Given the description of an element on the screen output the (x, y) to click on. 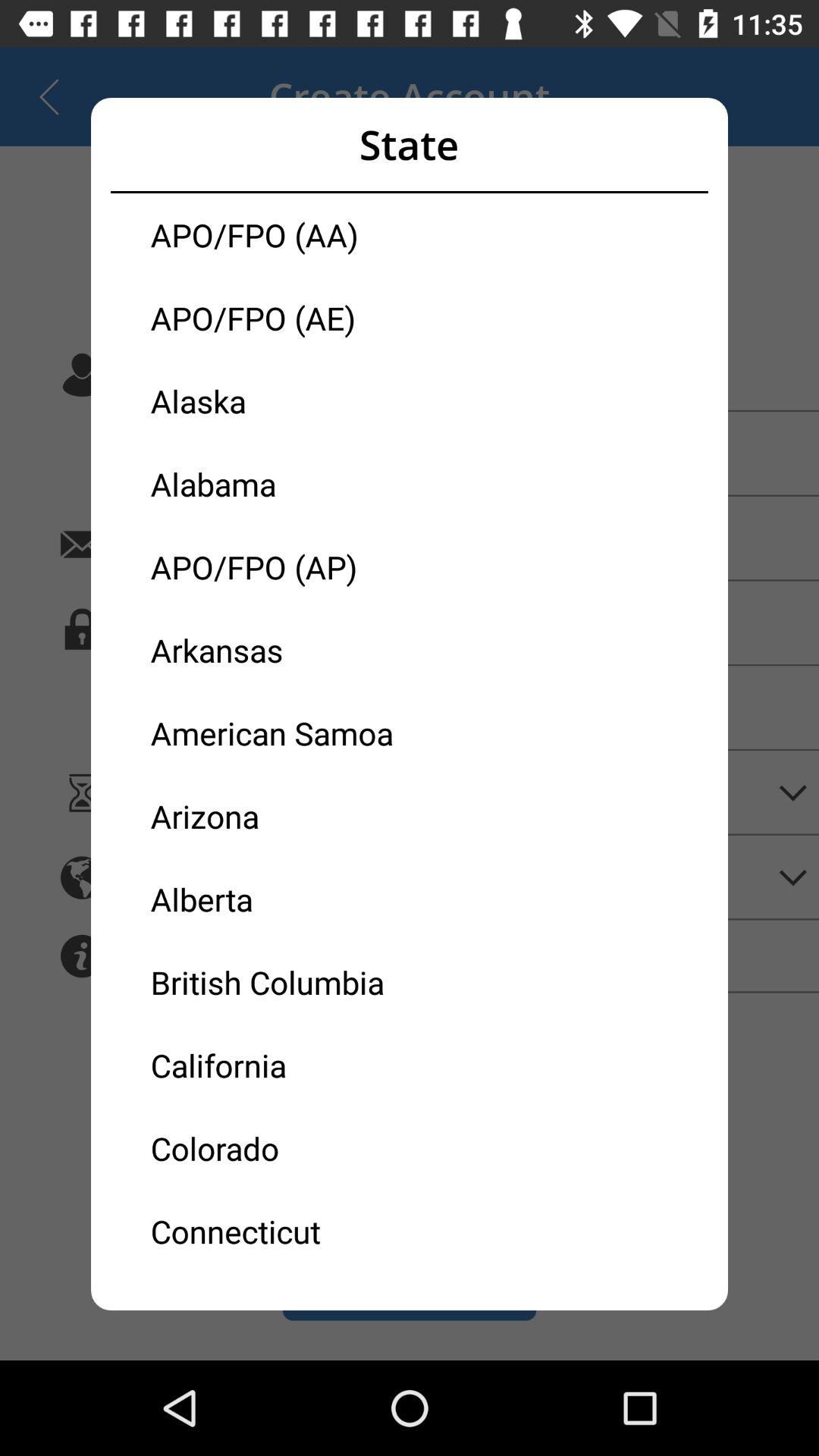
click item below the american samoa (279, 815)
